Given the description of an element on the screen output the (x, y) to click on. 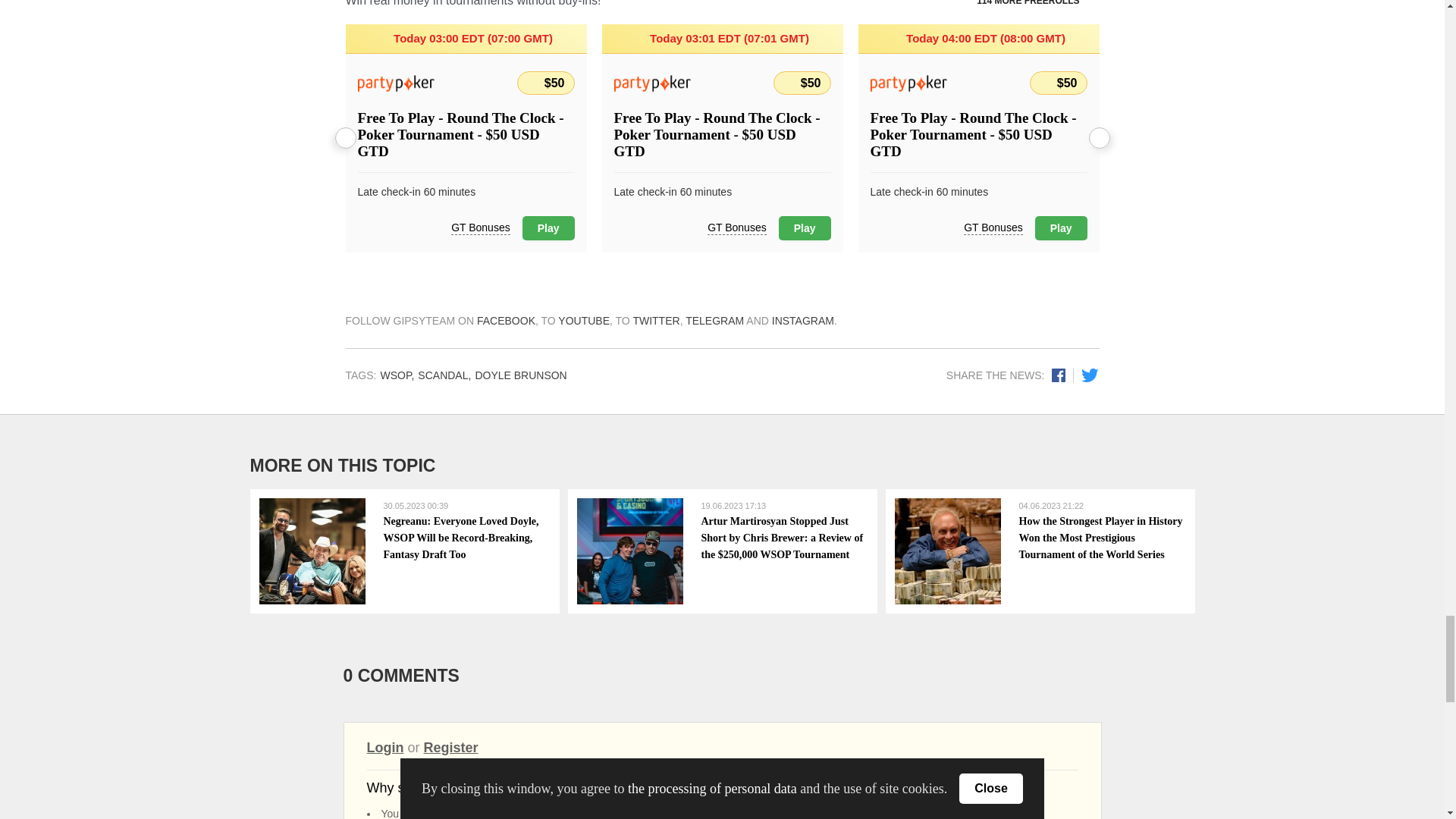
SCANDAL (443, 375)
WSOP (396, 375)
DOYLE BRUNSON (520, 375)
